Given the description of an element on the screen output the (x, y) to click on. 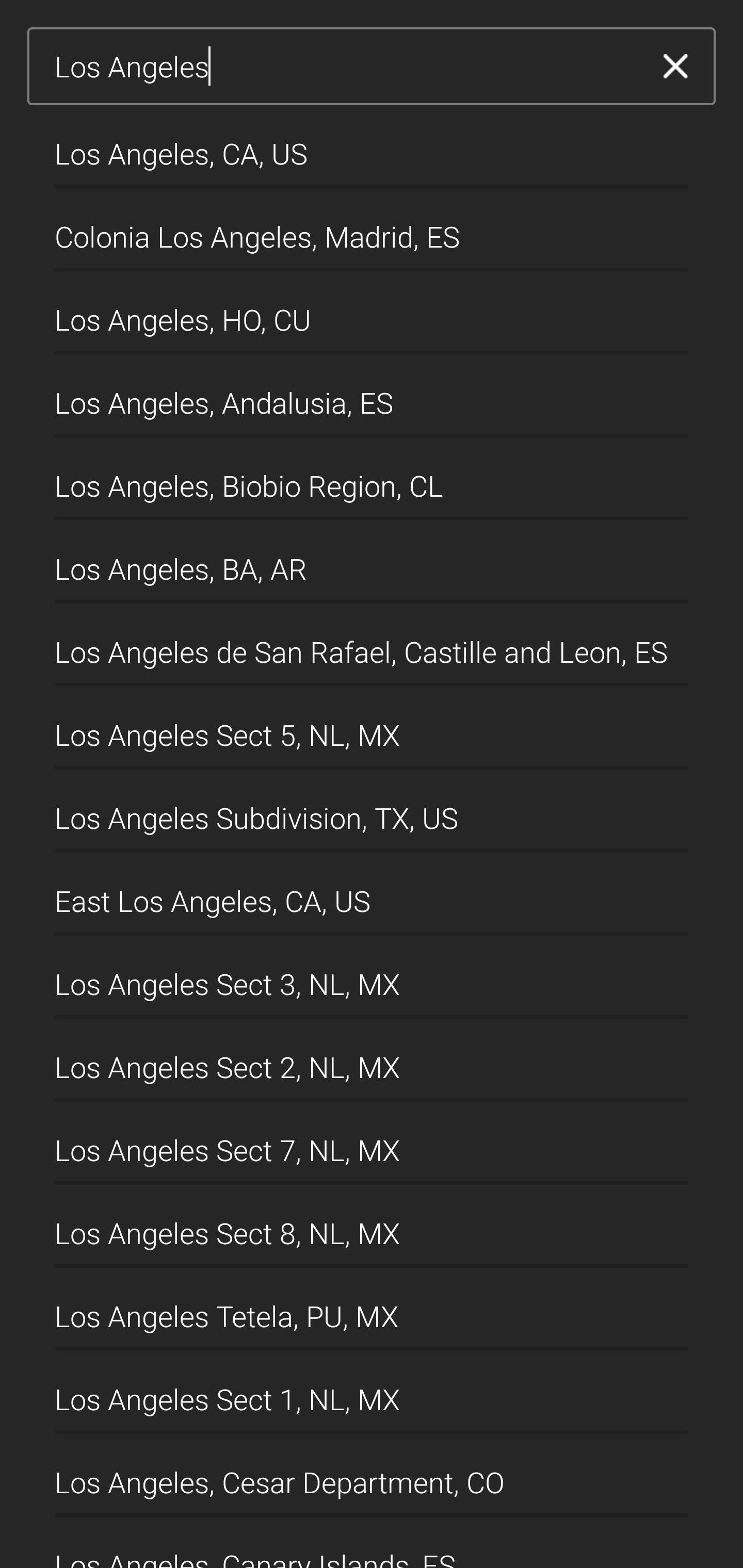
Los Angeles (345, 66)
Los Angeles, CA, US (371, 146)
Colonia Los Angeles, Madrid, ES (371, 229)
Los Angeles, HO, CU (371, 312)
Los Angeles, Andalusia, ES (371, 395)
Los Angeles, Biobio Region, CL (371, 478)
Los Angeles, BA, AR (371, 561)
Los Angeles de San Rafael, Castille and Leon, ES (371, 644)
Los Angeles Sect 5, NL, MX (371, 727)
Los Angeles Subdivision, TX, US (371, 810)
East Los Angeles, CA, US (371, 894)
Los Angeles Sect 3, NL, MX (371, 977)
Los Angeles Sect 2, NL, MX (371, 1060)
Los Angeles Sect 7, NL, MX (371, 1143)
Los Angeles Sect 8, NL, MX (371, 1226)
Los Angeles Tetela, PU, MX (371, 1309)
Los Angeles Sect 1, NL, MX (371, 1392)
Los Angeles, Cesar Department, CO (371, 1474)
Los Angeles, Canary Islands, ES (371, 1542)
